Given the description of an element on the screen output the (x, y) to click on. 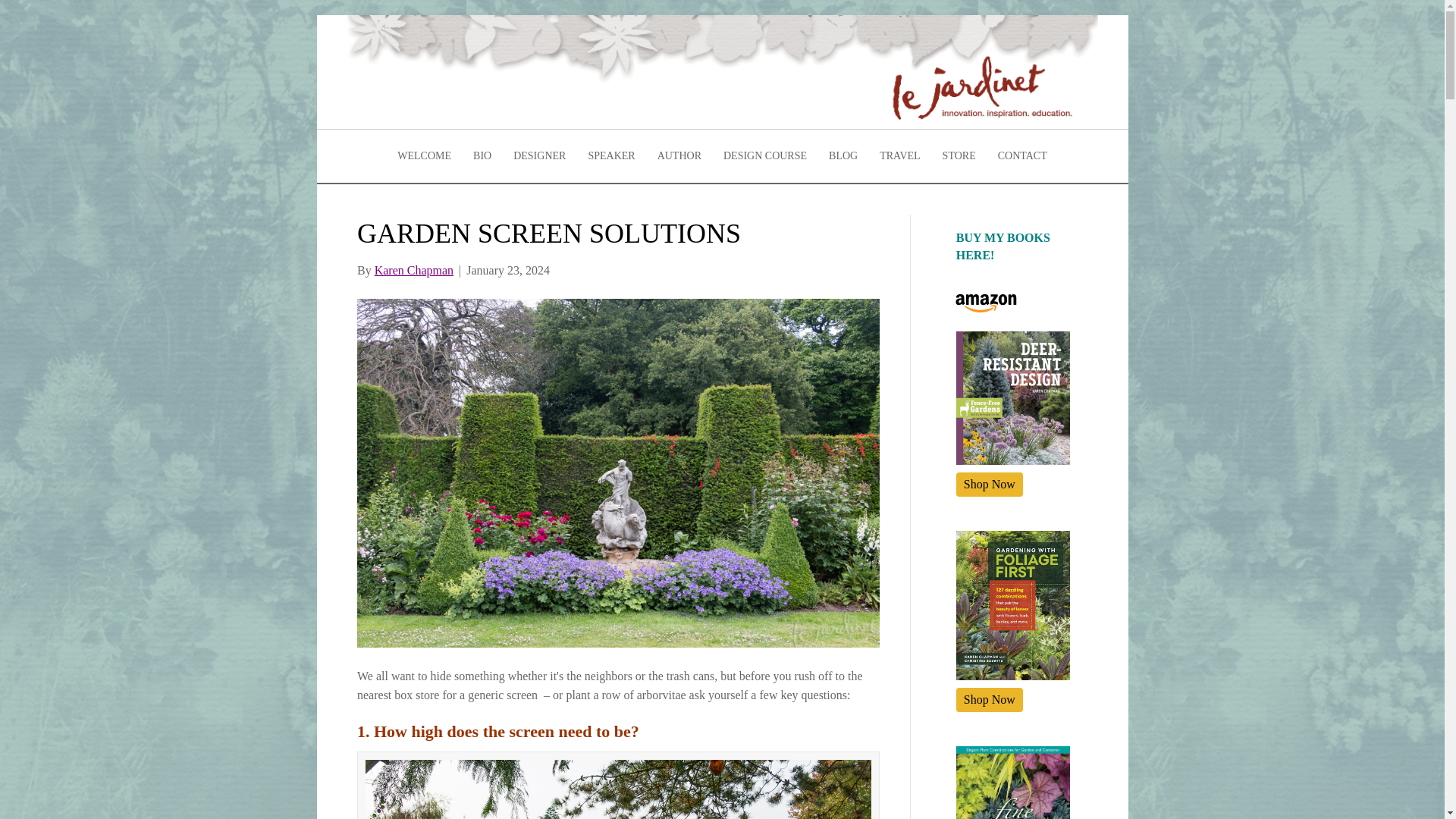
CONTACT (1022, 156)
DESIGN COURSE (764, 156)
AUTHOR (678, 156)
BLOG (842, 156)
SPEAKER (610, 156)
WELCOME (424, 156)
Click Here (989, 699)
BIO (482, 156)
STORE (959, 156)
Karen Chapman (413, 269)
